Given the description of an element on the screen output the (x, y) to click on. 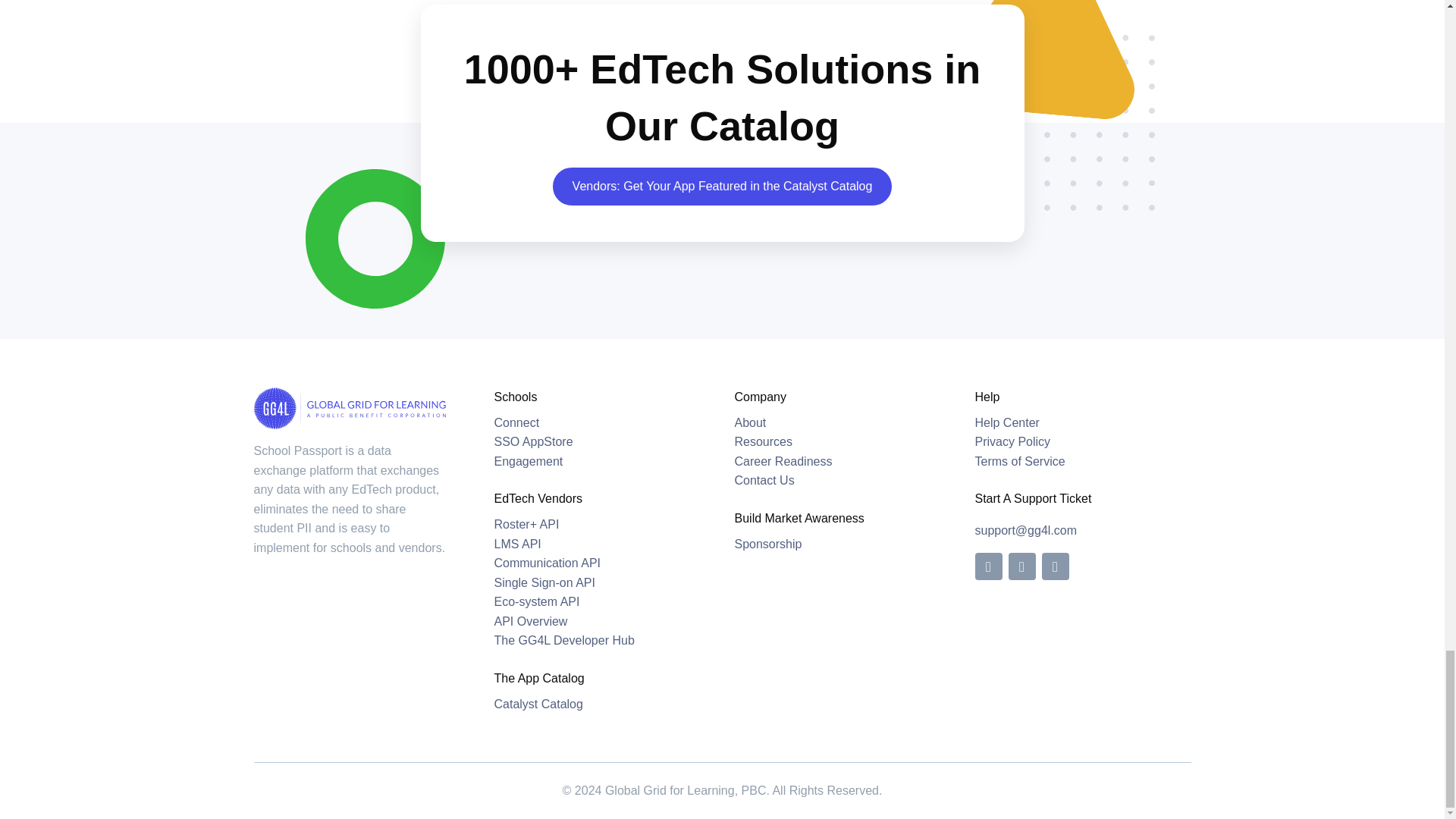
Single Sign-on API (545, 582)
Communication API (548, 562)
The GG4L Developer Hub (564, 640)
School Passport (517, 422)
Resources (762, 440)
LMS API (518, 543)
Contact Us (763, 480)
Engagement (534, 440)
Catalyst Catalog (539, 703)
Career Readiness (782, 461)
Eco-system API (537, 601)
API Overview (531, 621)
Coursera (529, 461)
About (749, 422)
